Given the description of an element on the screen output the (x, y) to click on. 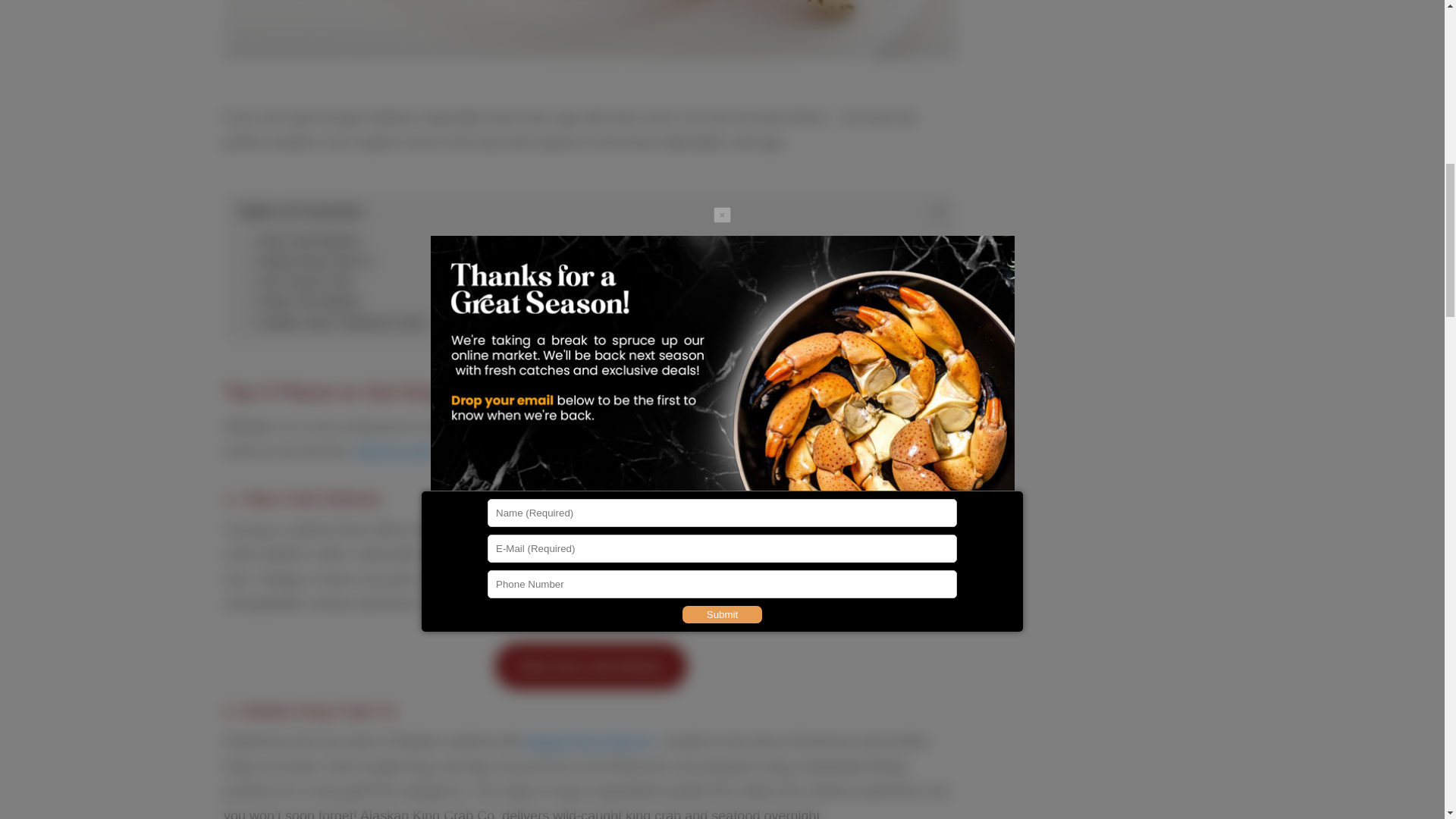
Holy Crab Delivery (302, 240)
Fulton Fish Market (301, 301)
Alaska King Crab Co. (309, 260)
Where-King-Crab-Legs (591, 38)
